Given the description of an element on the screen output the (x, y) to click on. 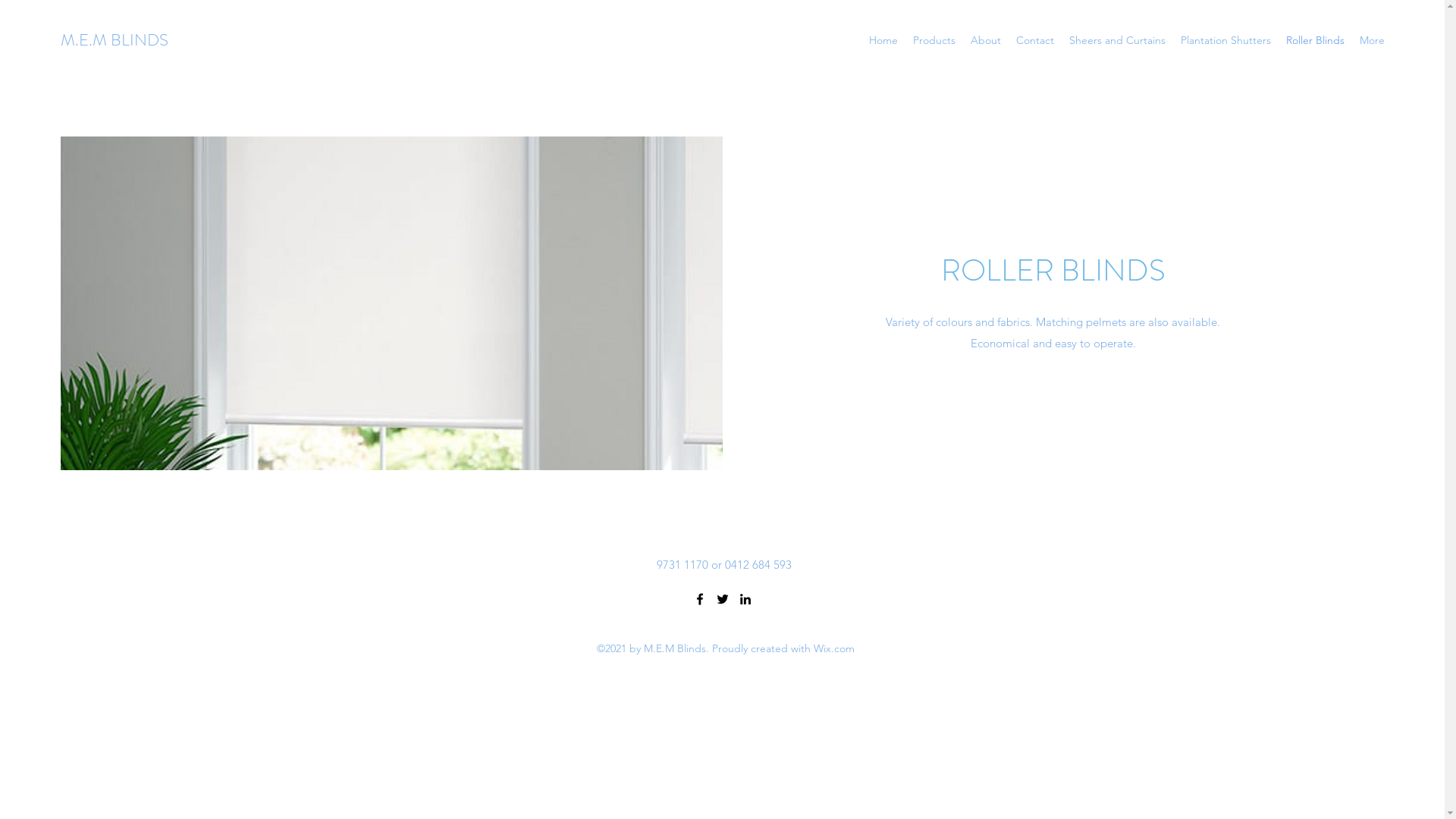
About Element type: text (985, 39)
Sheers and Curtains Element type: text (1117, 39)
Roller Blinds Element type: text (1315, 39)
Products Element type: text (934, 39)
M.E.M BLINDS Element type: text (114, 39)
Contact Element type: text (1034, 39)
Plantation Shutters Element type: text (1225, 39)
Home Element type: text (883, 39)
